Given the description of an element on the screen output the (x, y) to click on. 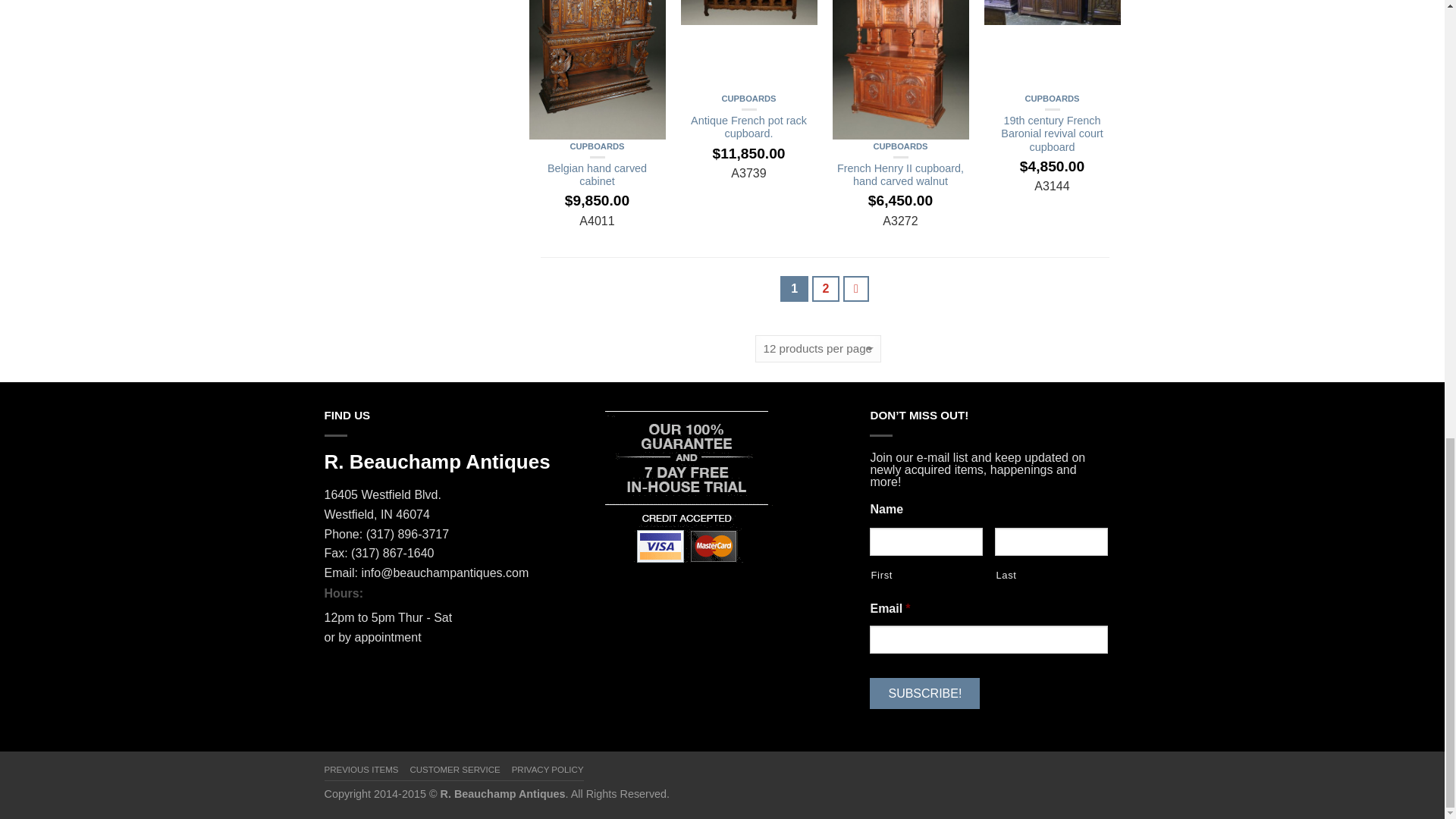
Subscribe! (924, 693)
